Given the description of an element on the screen output the (x, y) to click on. 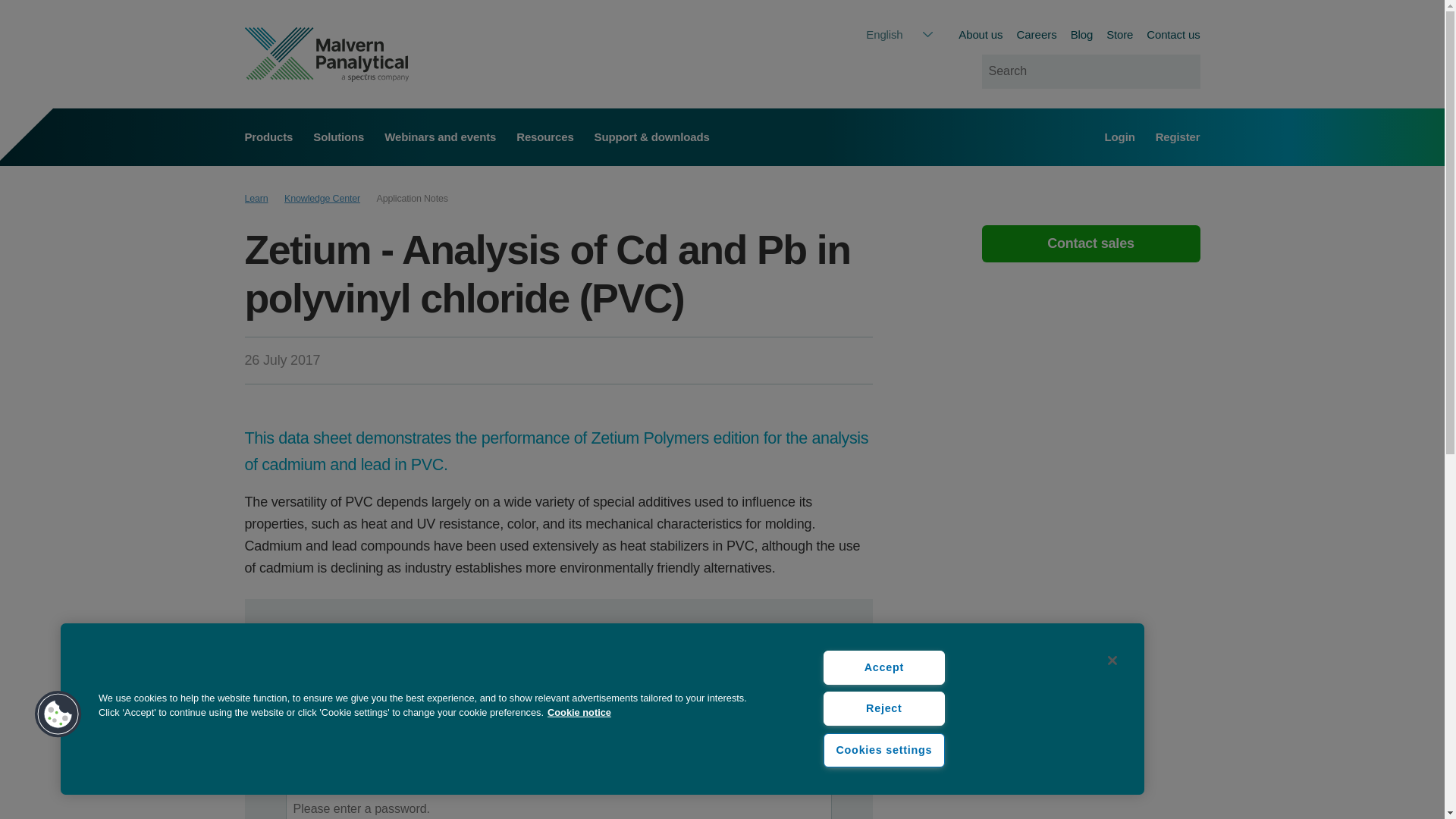
Resources (544, 136)
Contact sales (1090, 243)
Products (268, 136)
Login (1120, 136)
Solutions (338, 136)
Webinars and events (440, 136)
Learn (255, 198)
Store (1119, 33)
About us (980, 33)
Blog (1081, 33)
Register (1177, 136)
Cookies Button (57, 714)
Knowledge Center (321, 198)
Careers (1036, 34)
Contact us (1173, 33)
